Given the description of an element on the screen output the (x, y) to click on. 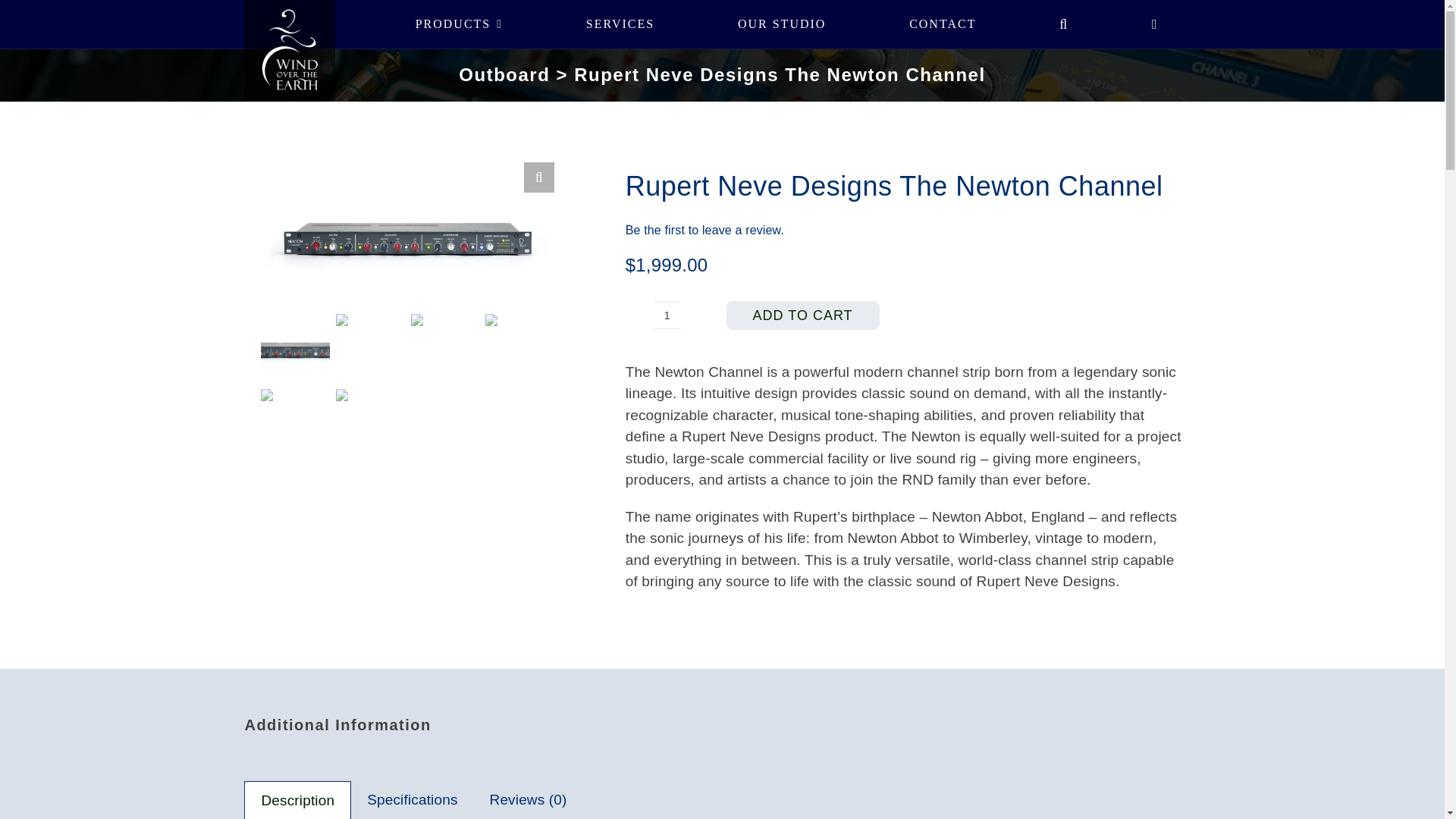
RUP6-1 (406, 235)
SERVICES (619, 24)
RUP6-4 (700, 259)
OUR STUDIO (781, 24)
1 (667, 315)
PRODUCTS (458, 24)
CONTACT (941, 24)
